Given the description of an element on the screen output the (x, y) to click on. 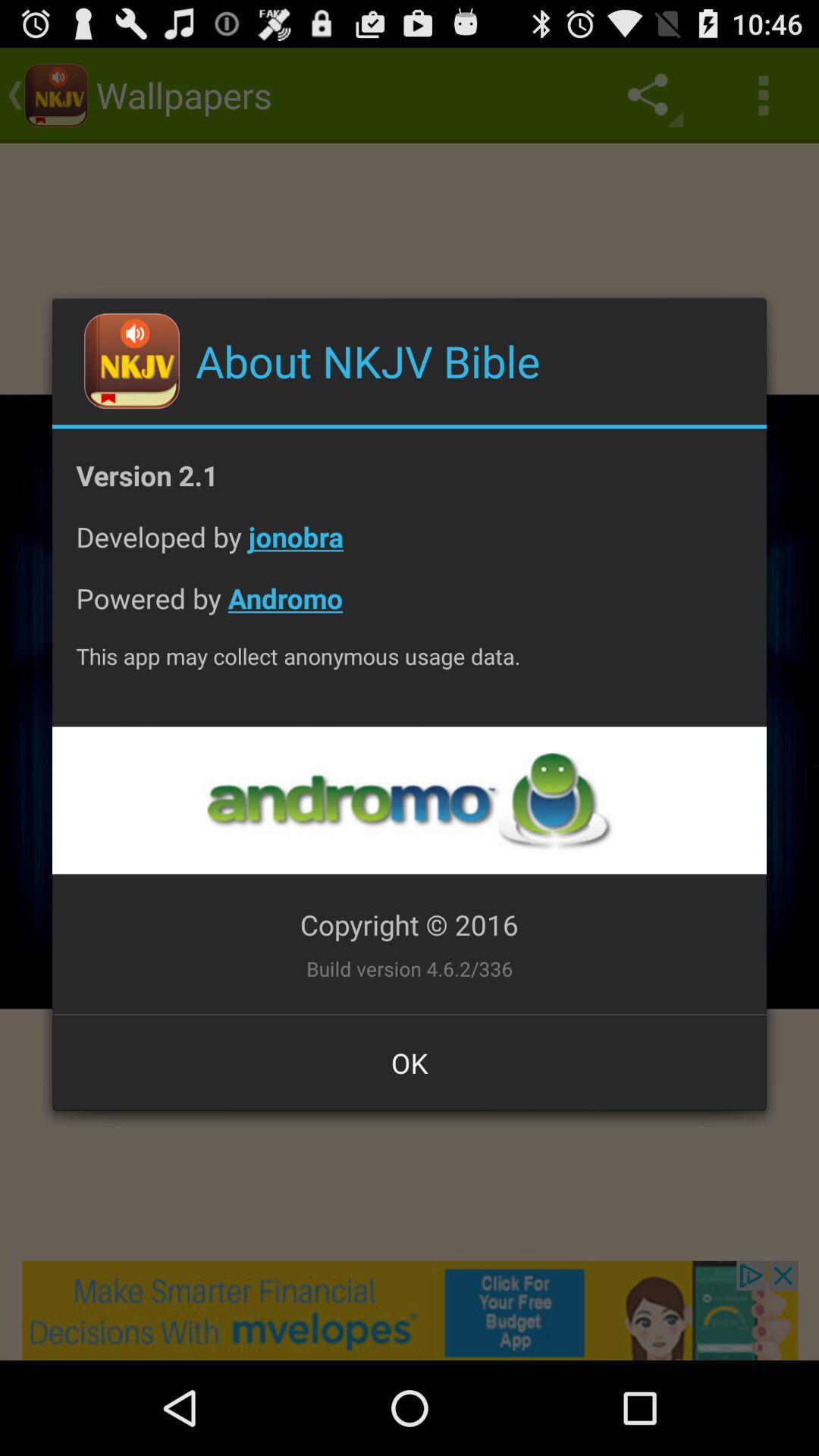
swipe to the developed by jonobra item (409, 548)
